Given the description of an element on the screen output the (x, y) to click on. 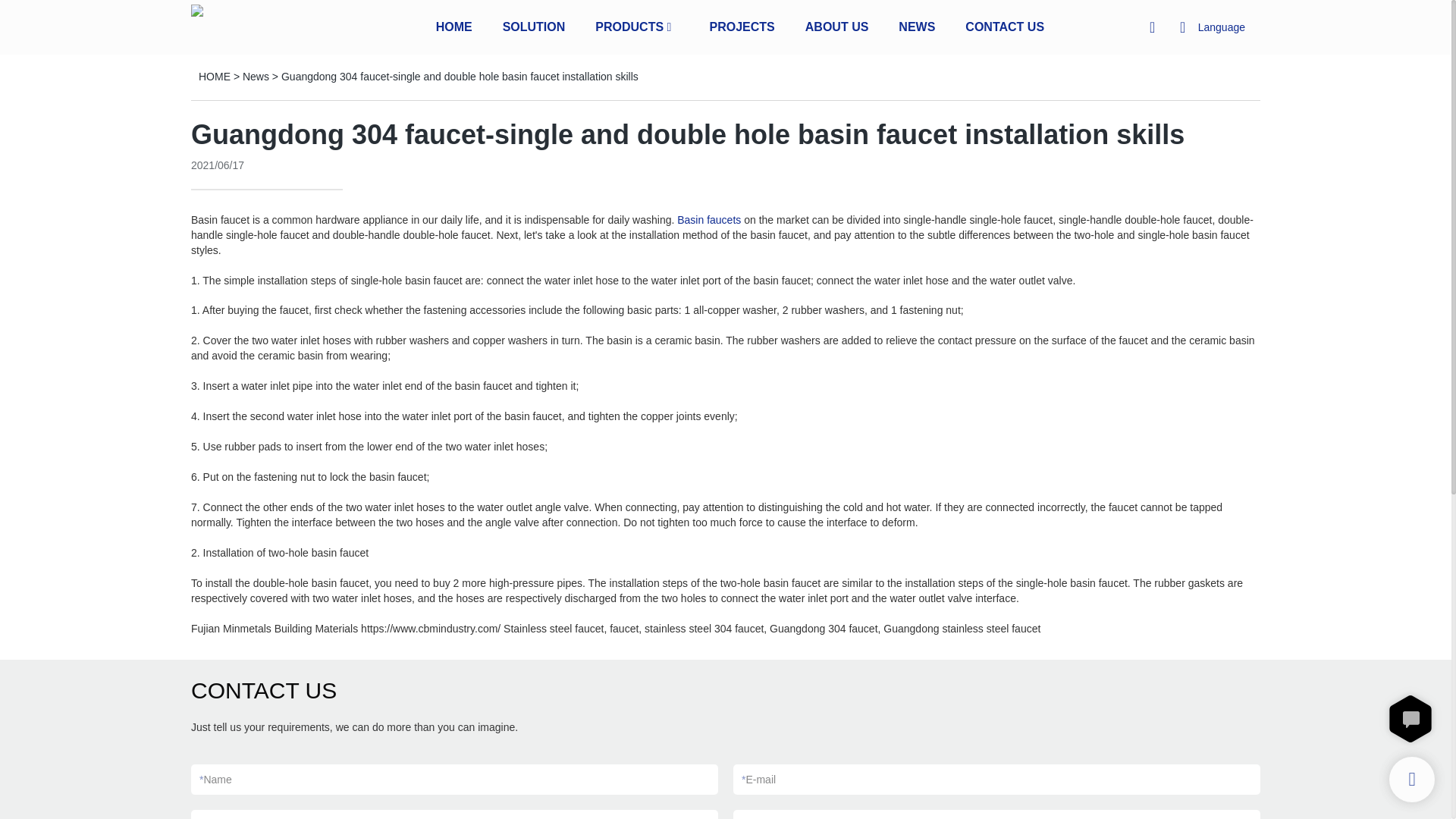
News (256, 76)
Basin faucets (709, 219)
PRODUCTS (629, 26)
ABOUT US (837, 26)
CONTACT US (1004, 26)
Basin faucets (709, 219)
SOLUTION (534, 26)
NEWS (916, 26)
HOME (453, 26)
PROJECTS (742, 26)
